Given the description of an element on the screen output the (x, y) to click on. 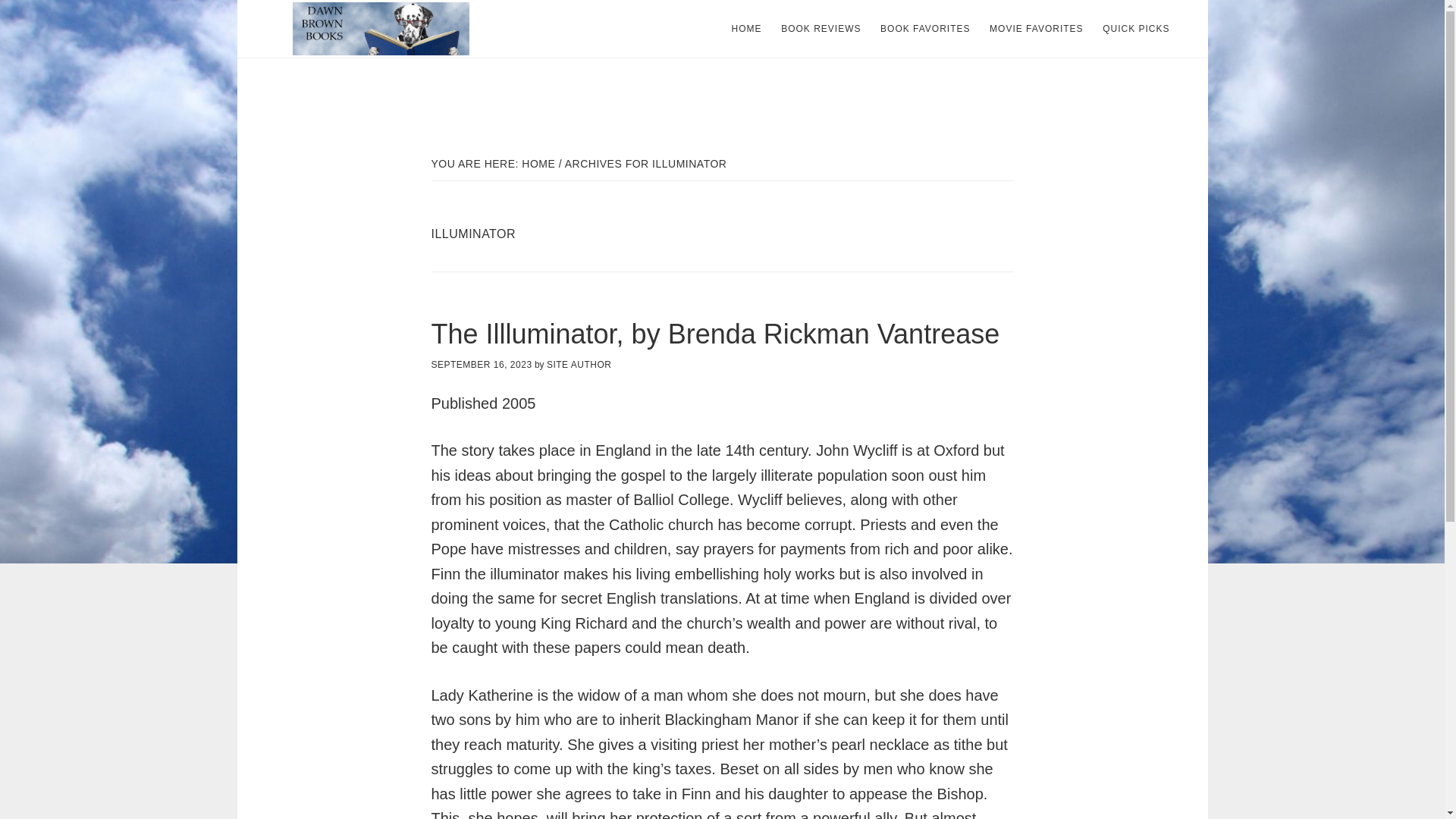
DAWN BROWN BOOKS (380, 28)
MOVIE FAVORITES (1035, 28)
The Illluminator, by Brenda Rickman Vantrease (714, 333)
QUICK PICKS (1135, 28)
SITE AUTHOR (579, 364)
HOME (537, 163)
HOME (746, 28)
BOOK FAVORITES (924, 28)
BOOK REVIEWS (820, 28)
